Given the description of an element on the screen output the (x, y) to click on. 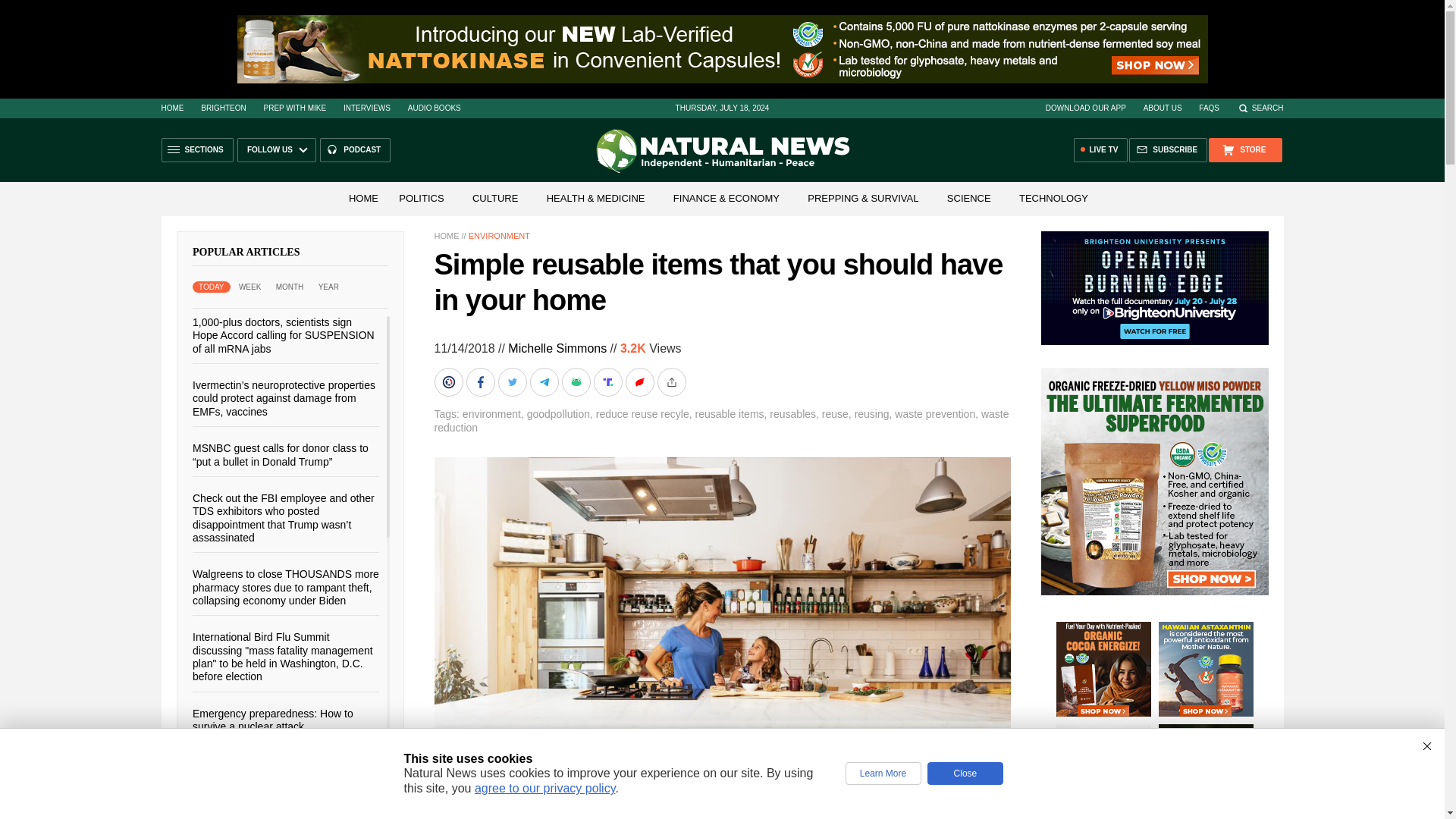
Share on Facebook (481, 381)
CULTURE (495, 197)
PREP WITH MIKE (294, 108)
HOME (171, 108)
Share on GAB (576, 381)
STORE (1244, 150)
SCIENCE (968, 197)
Emergency preparedness: How to survive a nuclear attack (272, 719)
More Share Options (672, 381)
INTERVIEWS (366, 108)
Share on Truth.Social (608, 381)
FAQS (1209, 108)
POLITICS (421, 197)
ABOUT US (1162, 108)
